Given the description of an element on the screen output the (x, y) to click on. 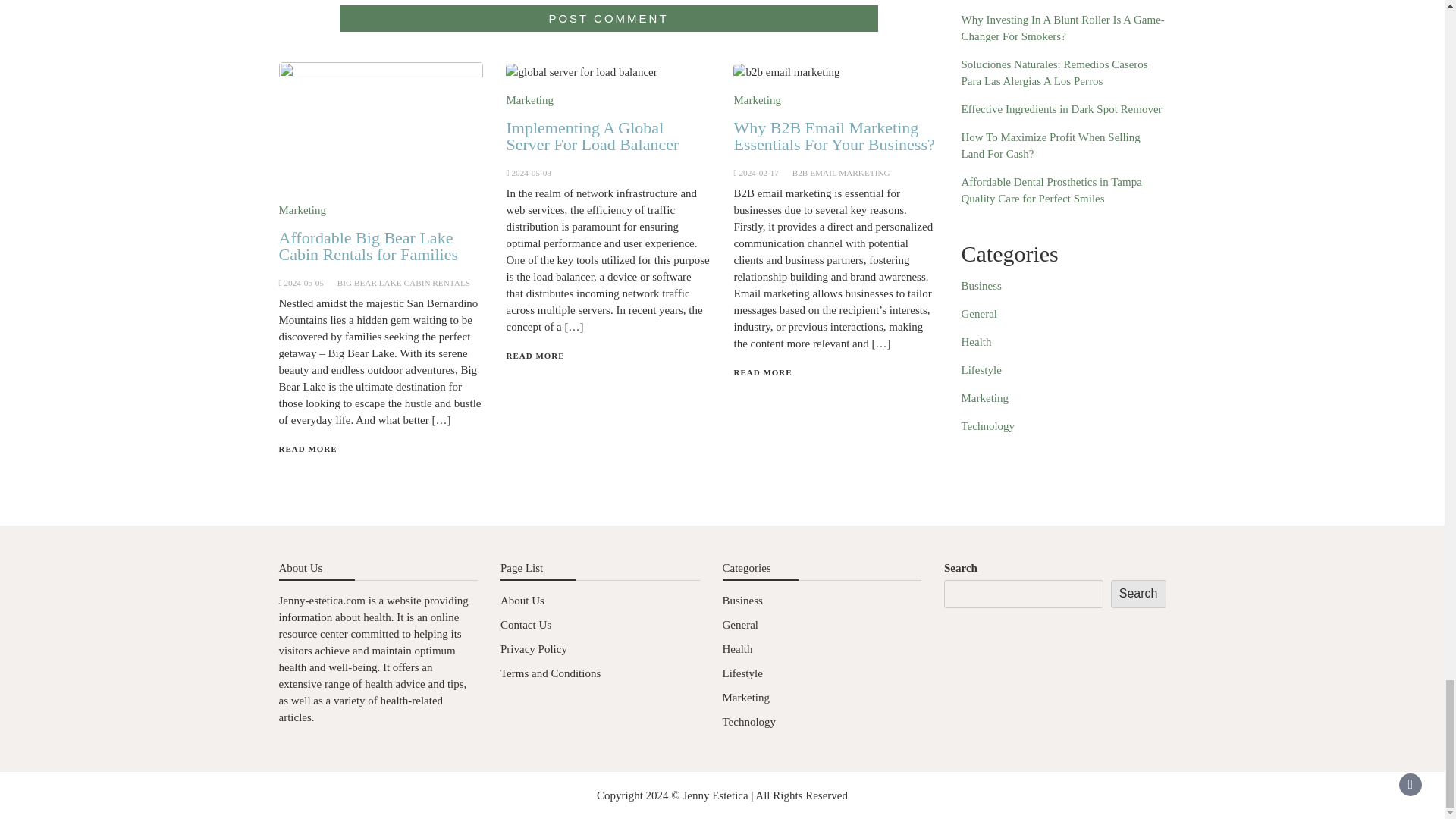
READ MORE (308, 448)
Post Comment (608, 17)
Post Comment (608, 17)
BIG BEAR LAKE CABIN RENTALS (403, 282)
Affordable Big Bear Lake Cabin Rentals for Families (368, 245)
2024-06-05 (303, 282)
Marketing (529, 100)
Marketing (302, 209)
